Given the description of an element on the screen output the (x, y) to click on. 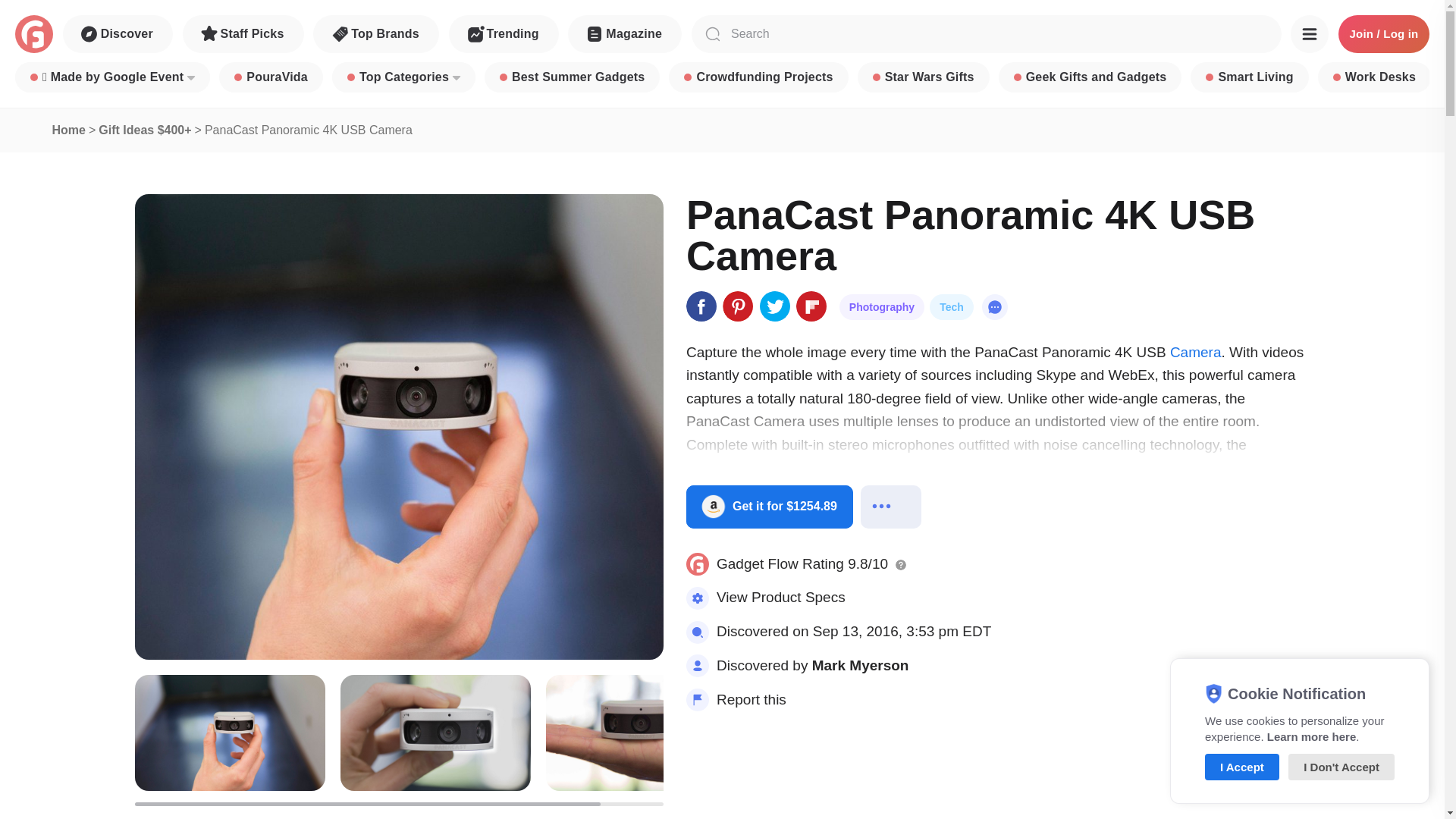
Work Desks (1374, 77)
Discover (117, 34)
Staff Picks (243, 34)
PouraVida (271, 77)
Trending (503, 34)
Crowdfunding Projects (757, 77)
Star Wars Gifts (923, 77)
Gadget Flow (33, 34)
Best Summer Gadgets (571, 77)
Magazine (624, 34)
